Given the description of an element on the screen output the (x, y) to click on. 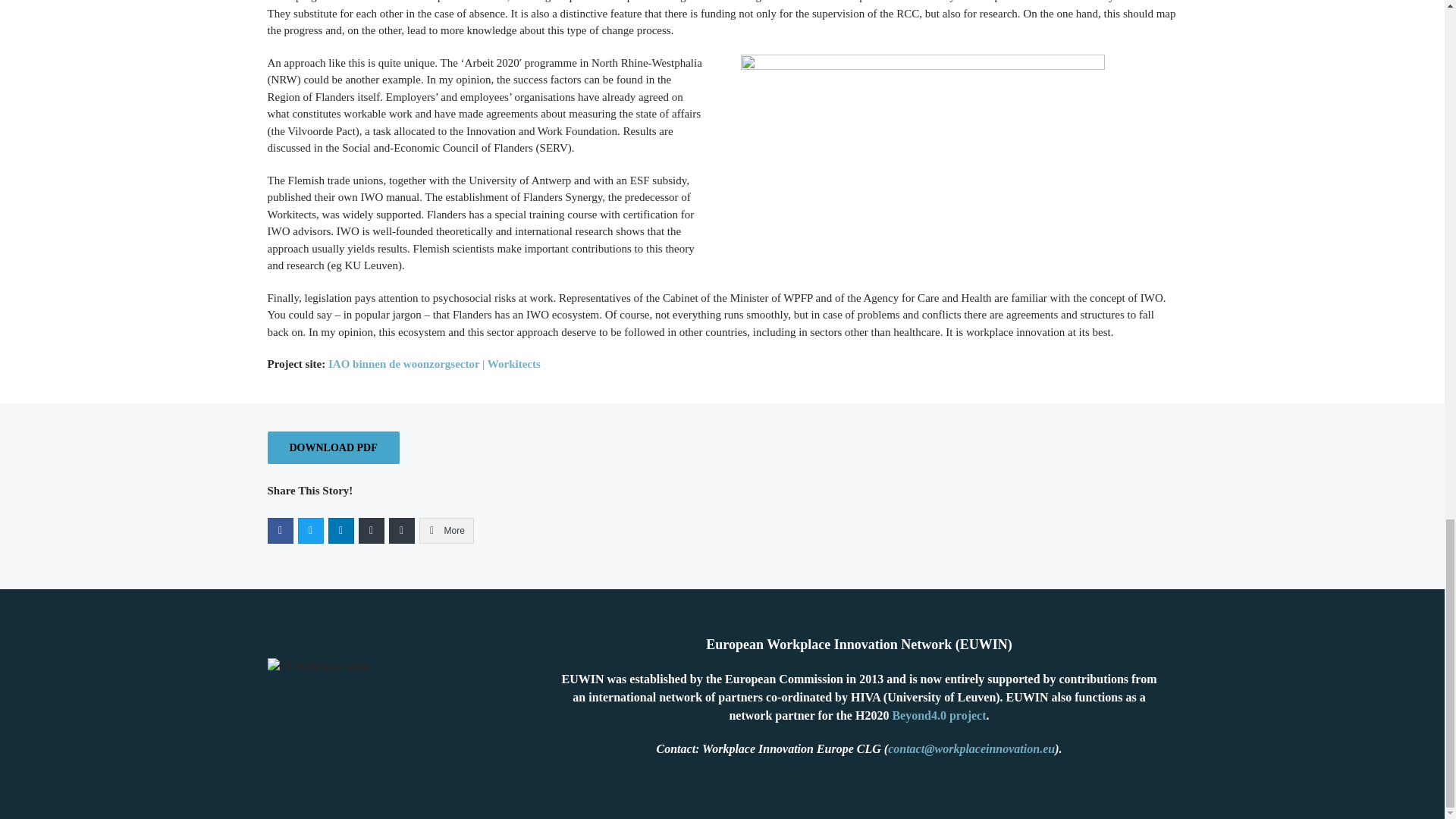
euwin-white (318, 666)
More (446, 530)
Residential Care Centres 2 (921, 162)
Beyond4.0 project (938, 715)
DOWNLOAD PDF (332, 447)
